Given the description of an element on the screen output the (x, y) to click on. 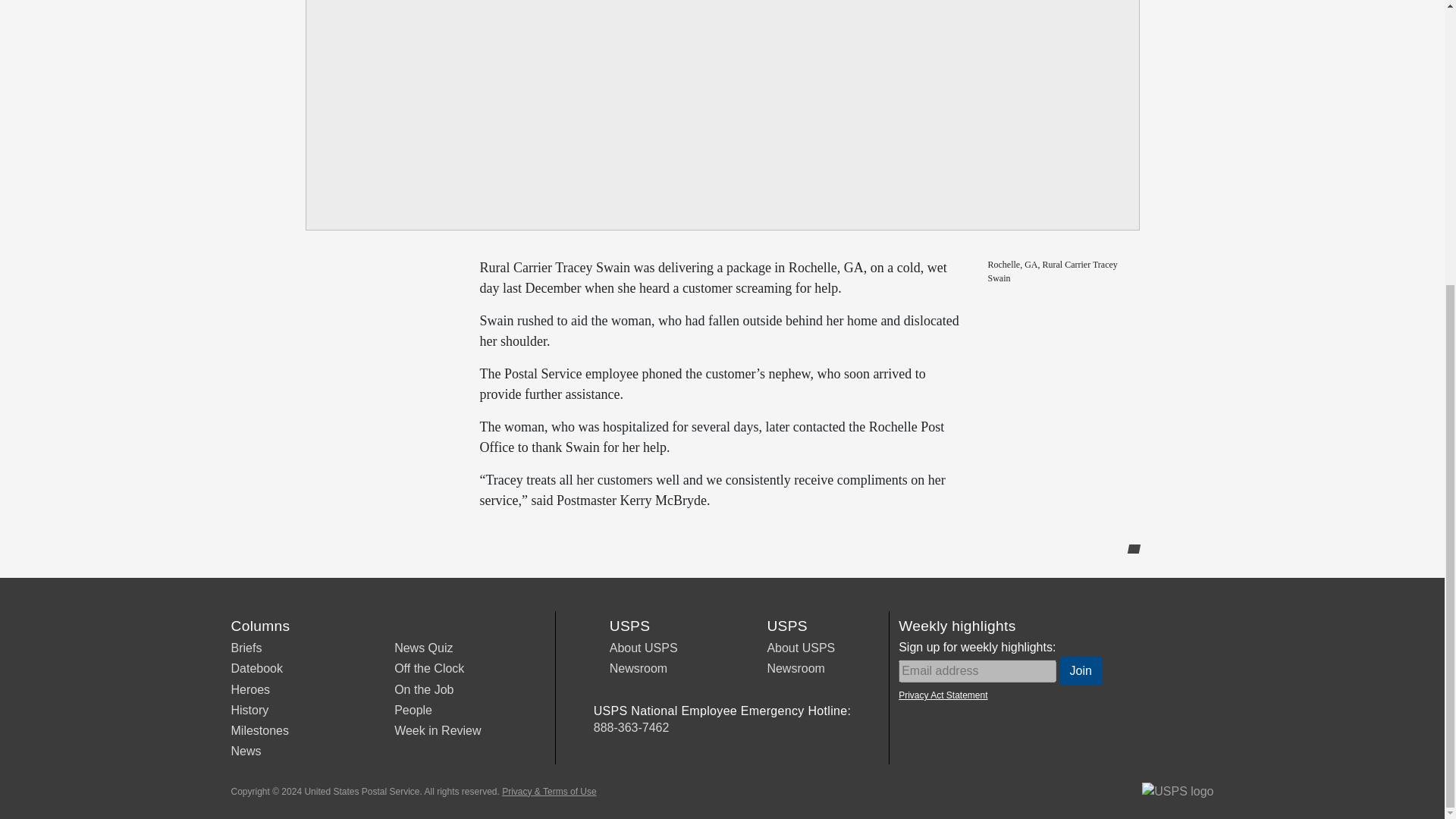
People (413, 709)
Privacy Act Statement (942, 695)
News Quiz (423, 647)
Newsroom (795, 667)
On the Job (423, 689)
Milestones (259, 730)
About USPS (800, 647)
History (248, 709)
Briefs (246, 647)
About USPS (644, 647)
Join (1080, 670)
Off the Clock (429, 667)
News (245, 750)
Newsroom (638, 667)
Datebook (256, 667)
